Given the description of an element on the screen output the (x, y) to click on. 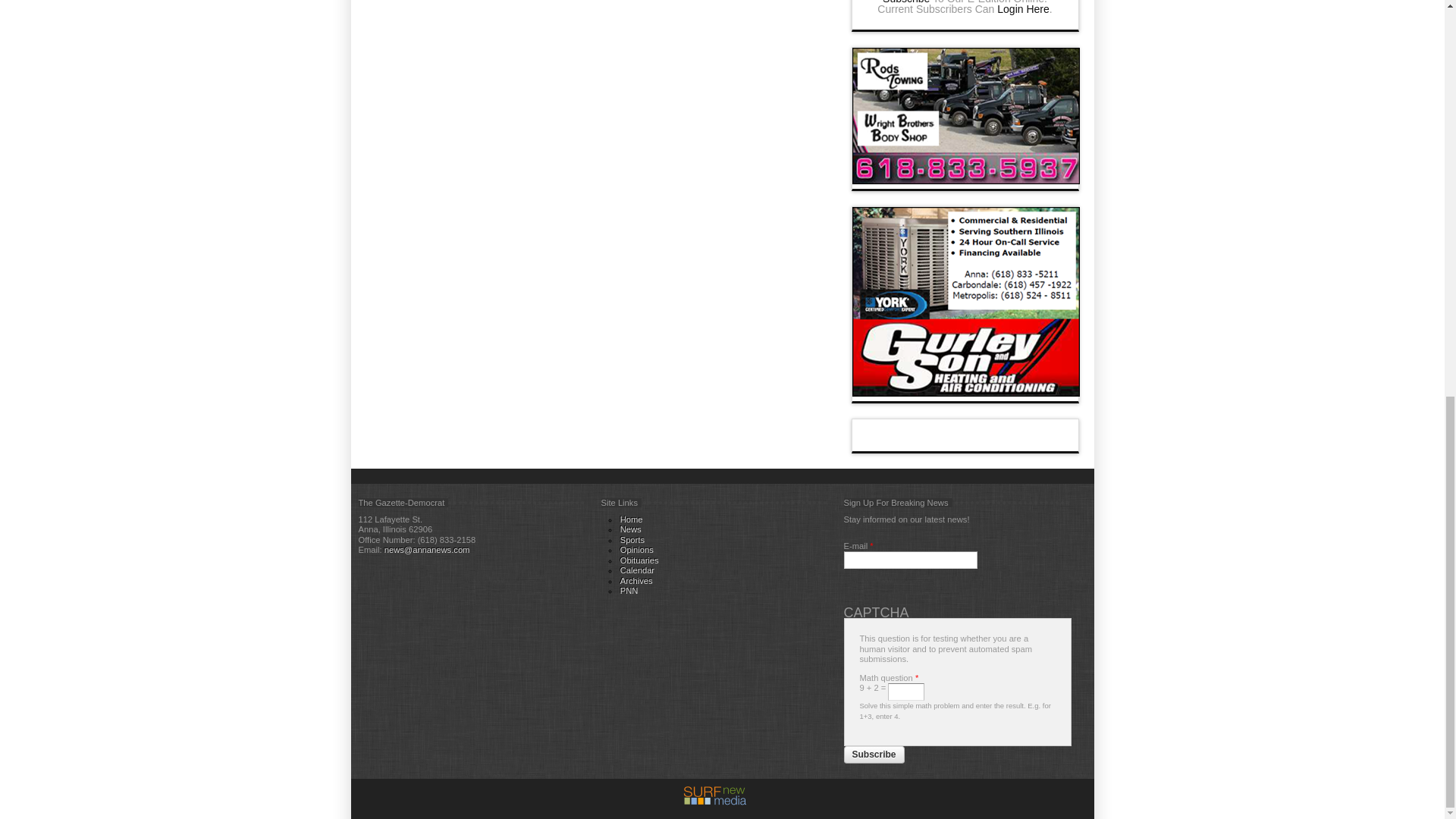
Opinions (636, 549)
Obituaries (639, 560)
Sports (632, 539)
Subscribe (873, 755)
Opinions (636, 549)
News (631, 528)
News (631, 528)
Subscribe (906, 2)
Sports (632, 539)
Home (631, 519)
Login Here (1023, 9)
